Given the description of an element on the screen output the (x, y) to click on. 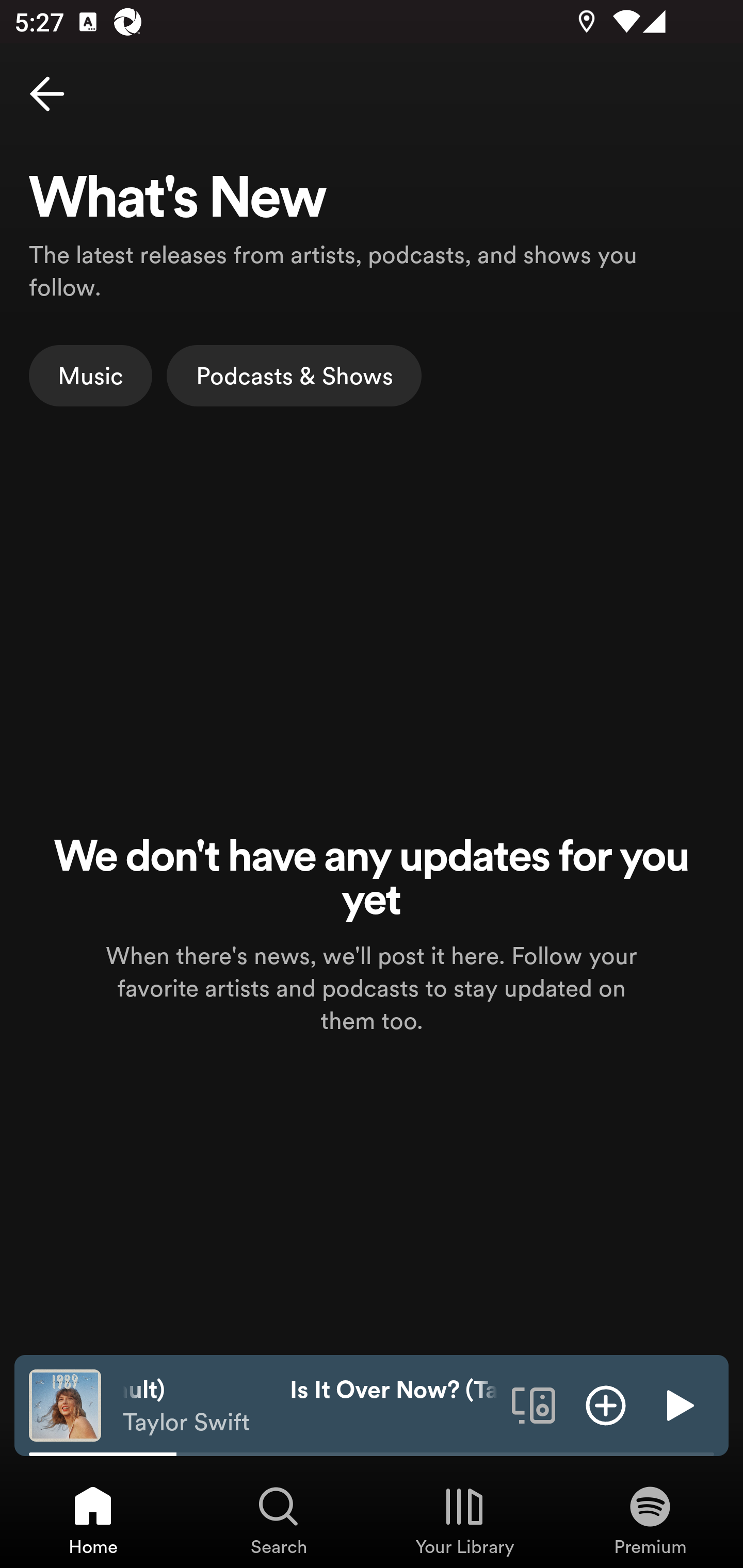
Back (46, 93)
Music; show only Music (90, 375)
Podcasts and Shows; show only Podcasts and Shows (293, 375)
The cover art of the currently playing track (64, 1404)
Connect to a device. Opens the devices menu (533, 1404)
Add item (605, 1404)
Play (677, 1404)
Home, Tab 1 of 4 Home Home (92, 1519)
Search, Tab 2 of 4 Search Search (278, 1519)
Your Library, Tab 3 of 4 Your Library Your Library (464, 1519)
Premium, Tab 4 of 4 Premium Premium (650, 1519)
